Given the description of an element on the screen output the (x, y) to click on. 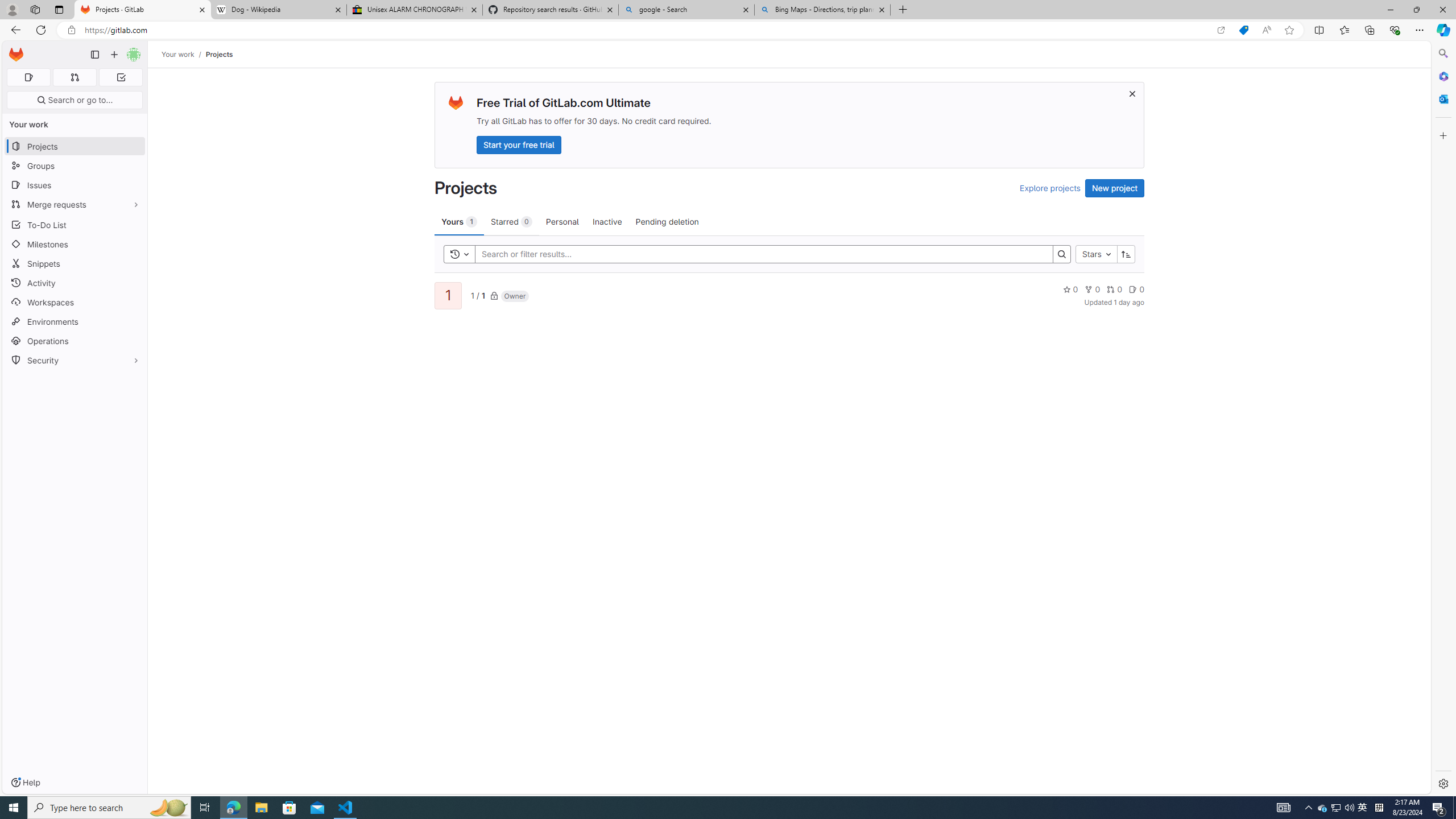
To-Do List (74, 224)
Open in app (1220, 29)
To-Do List (74, 224)
Merge requests (74, 203)
Inactive (606, 221)
Environments (74, 321)
Projects (218, 53)
Explore projects (1049, 187)
Groups (74, 165)
Dog - Wikipedia (277, 9)
Activity (74, 282)
